Given the description of an element on the screen output the (x, y) to click on. 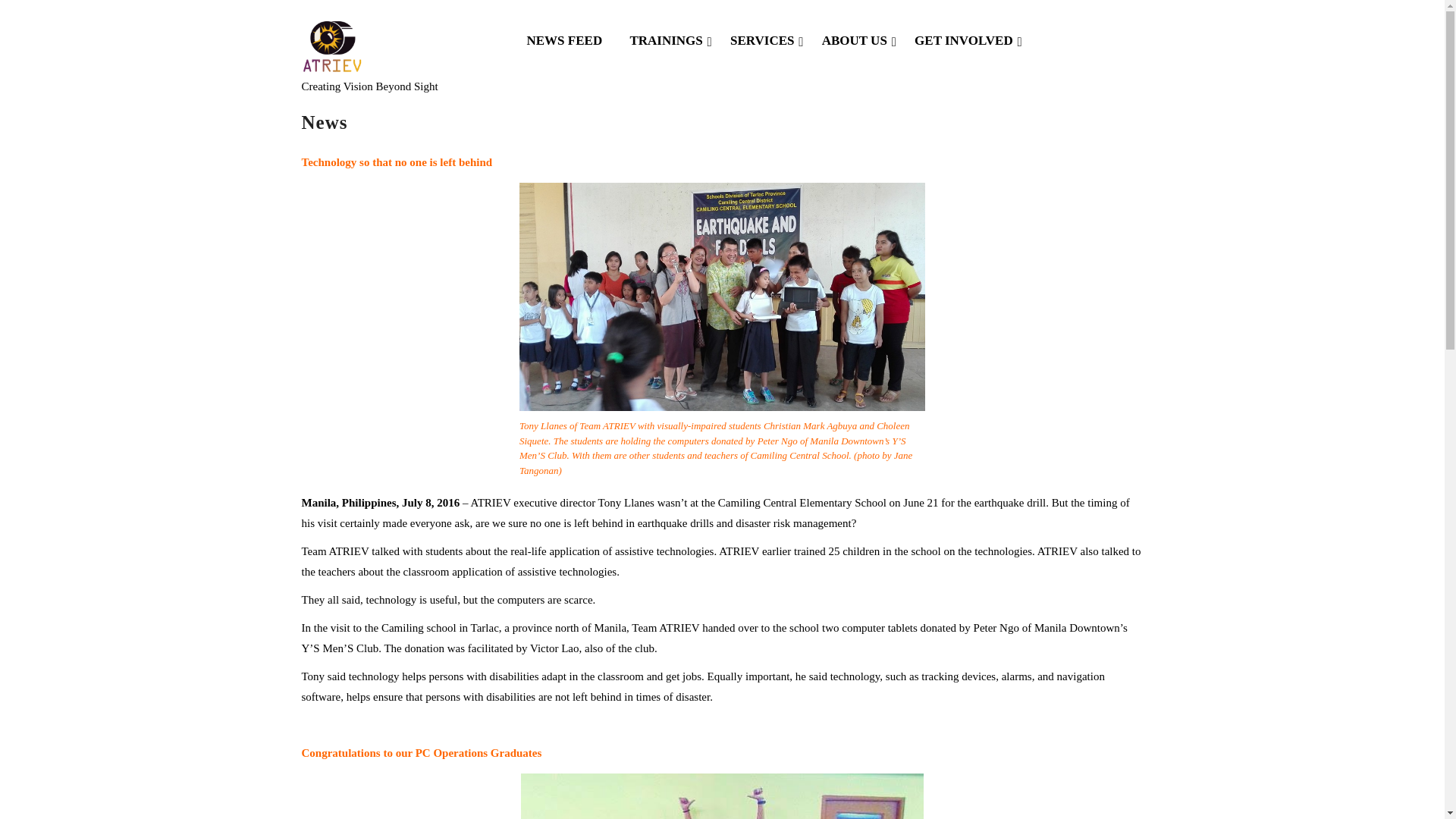
SERVICES (764, 40)
TRAININGS (668, 40)
NEWS FEED (566, 40)
ABOUT US (857, 40)
GET INVOLVED (966, 40)
